Given the description of an element on the screen output the (x, y) to click on. 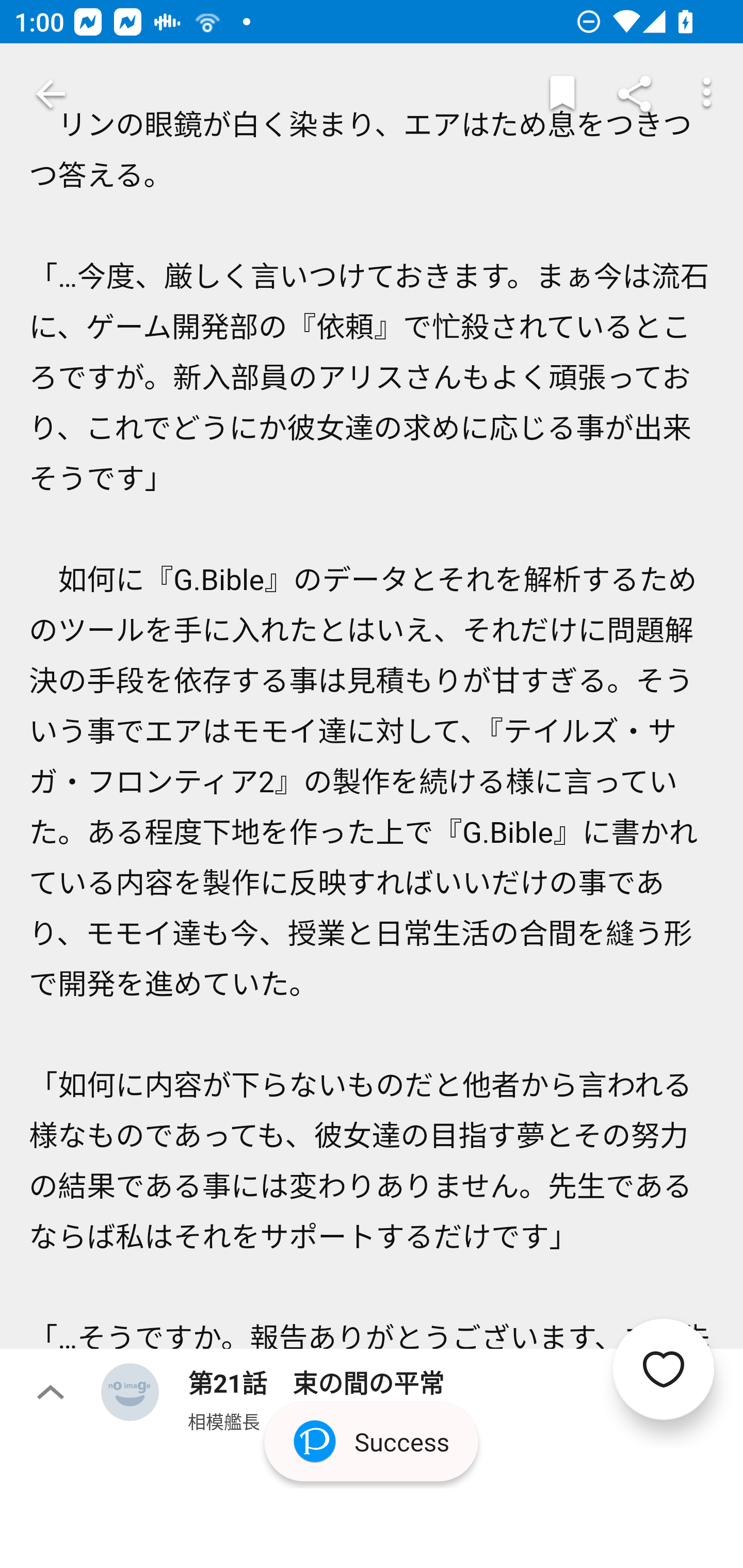
Navigate up (50, 93)
Markers (562, 93)
Share (634, 93)
More options (706, 93)
相模艦長 (223, 1421)
